Given the description of an element on the screen output the (x, y) to click on. 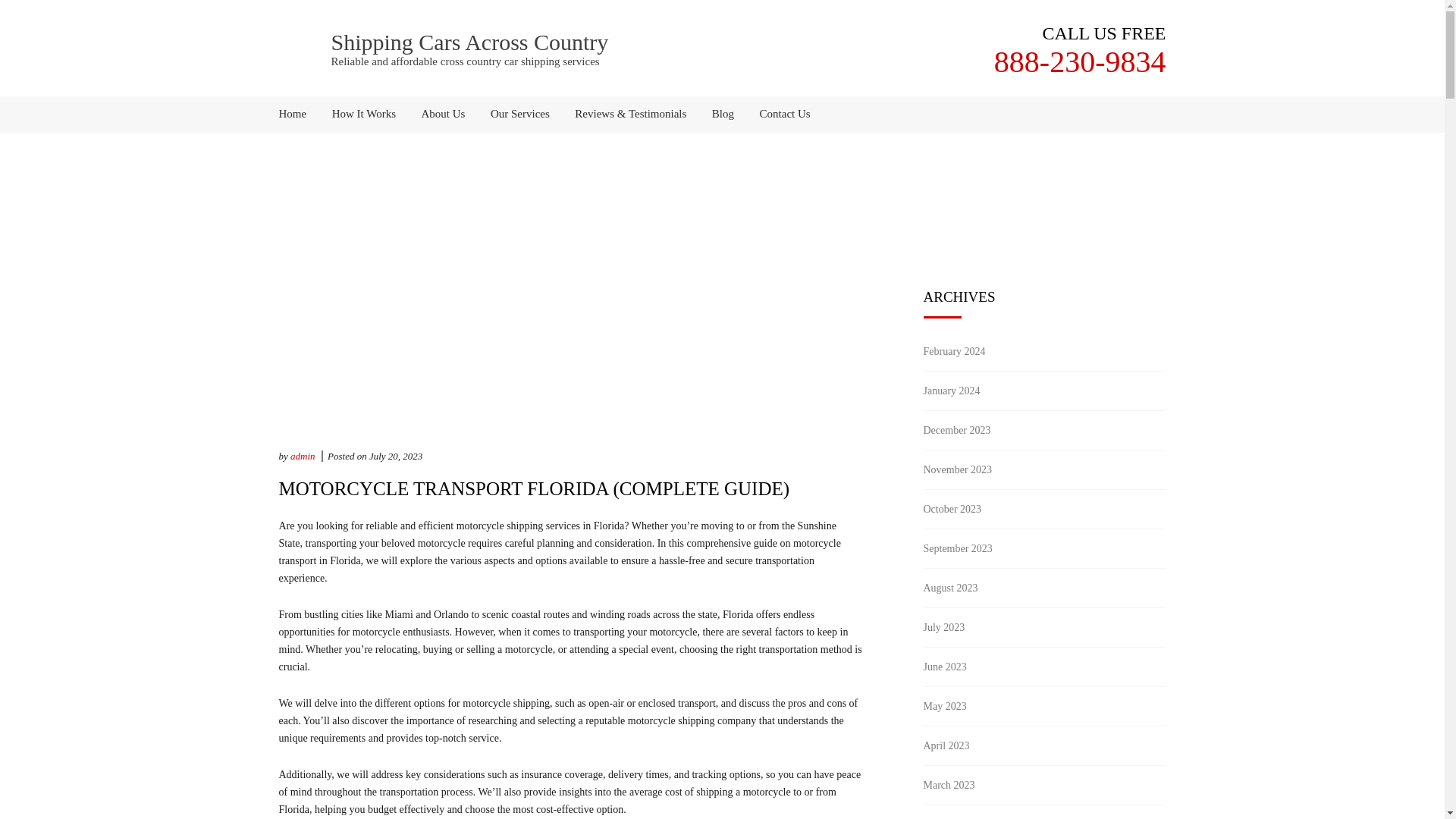
How It Works (363, 114)
Home (298, 114)
Contact Us (779, 114)
Posts by admin (302, 455)
About Us (443, 114)
admin (302, 455)
Shipping Cars Across Country (469, 42)
Our Services (519, 114)
888-230-9834 (1080, 61)
Blog (722, 114)
